Given the description of an element on the screen output the (x, y) to click on. 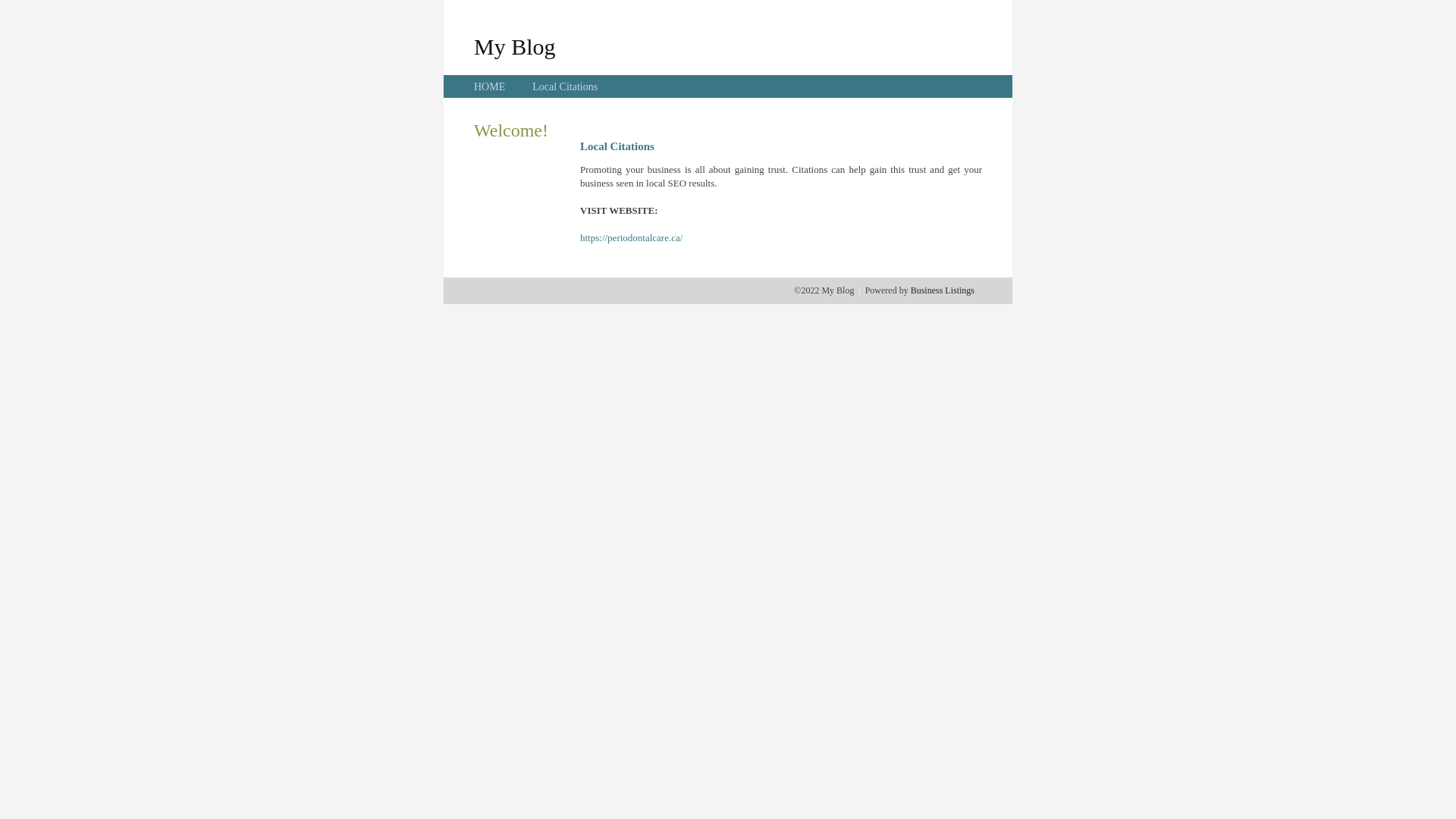
My Blog Element type: text (514, 46)
Local Citations Element type: text (564, 86)
Business Listings Element type: text (942, 290)
HOME Element type: text (489, 86)
https://periodontalcare.ca/ Element type: text (631, 237)
